Given the description of an element on the screen output the (x, y) to click on. 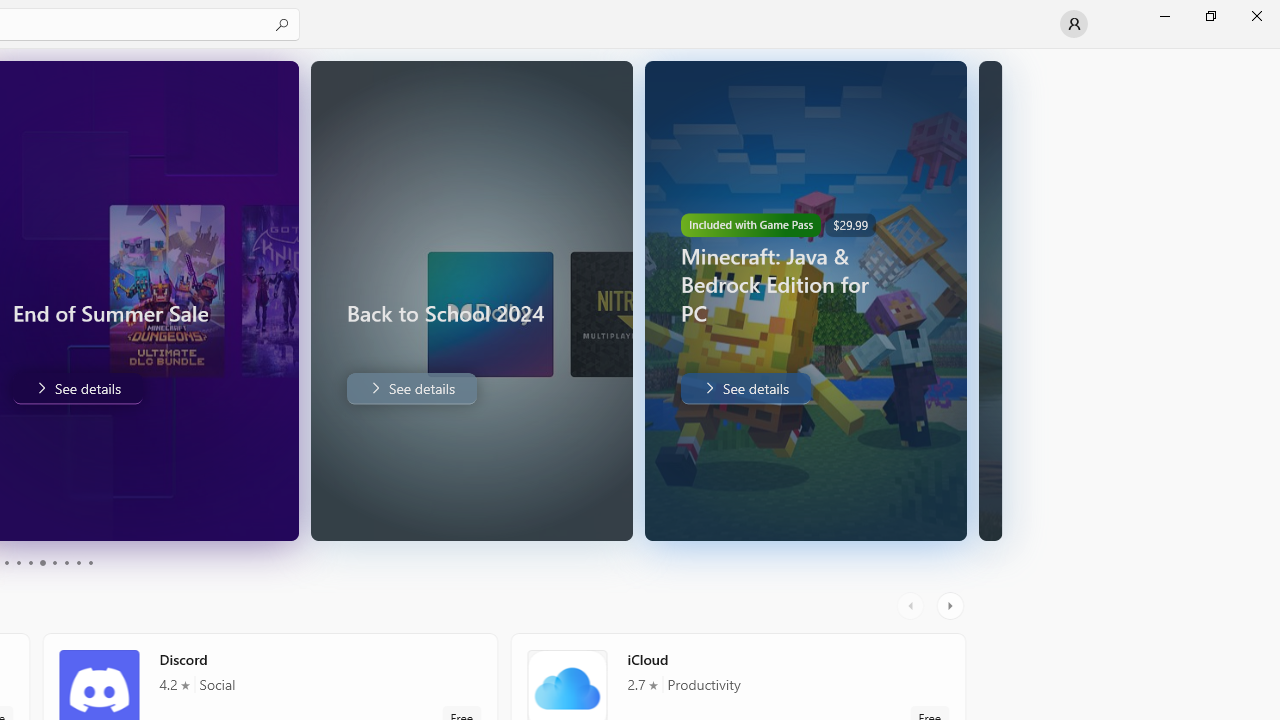
Page 7 (54, 562)
Restore Microsoft Store (1210, 15)
AutomationID: RightScrollButton (952, 606)
